Given the description of an element on the screen output the (x, y) to click on. 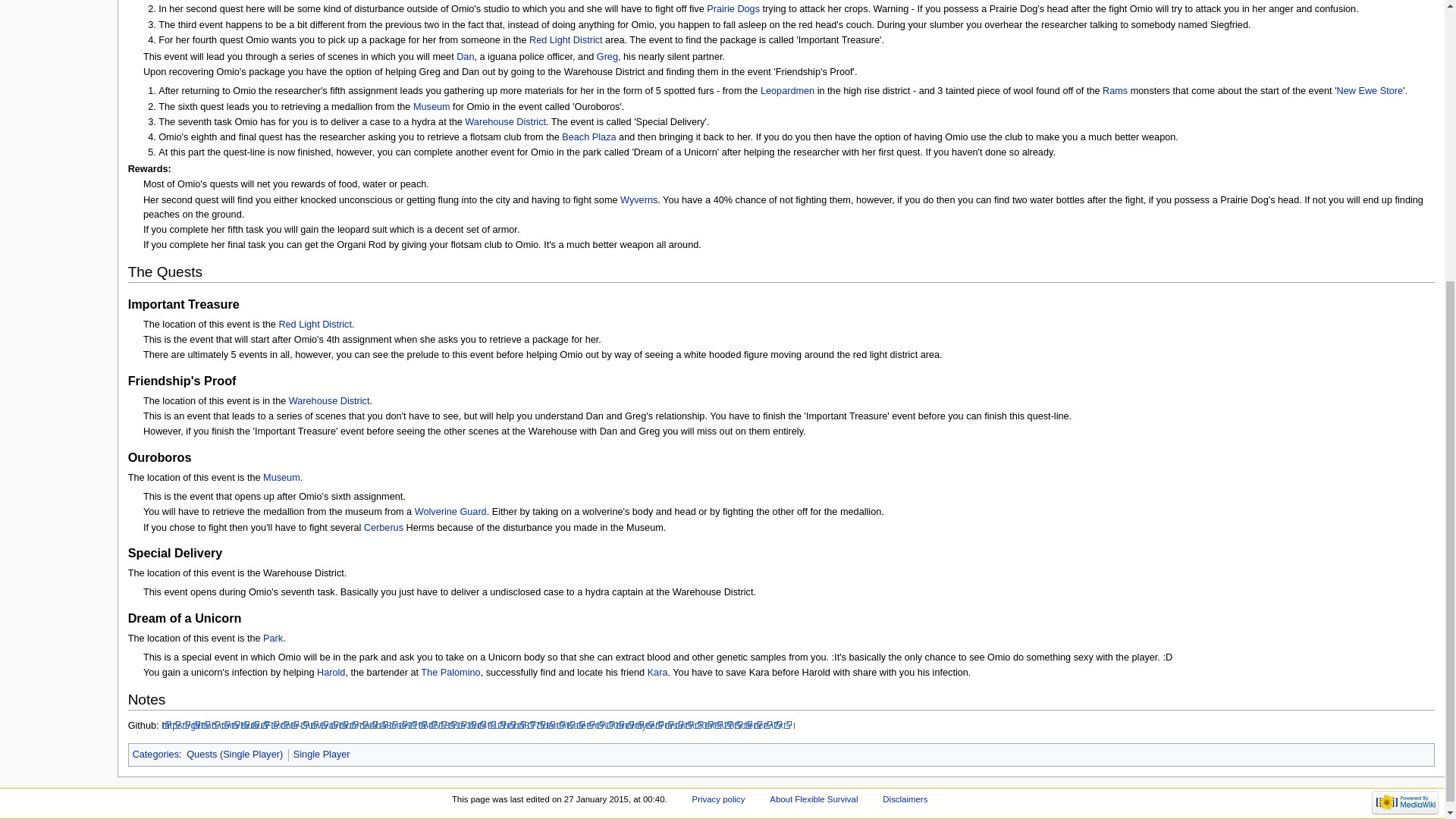
Museum (281, 477)
Wolverine Guard (450, 511)
Wyverns (639, 199)
Rams (1114, 90)
Beach Plaza (588, 136)
Warehouse District (505, 122)
Red Light District (315, 324)
Cerberus (383, 527)
Ram (1114, 90)
Leopardman (786, 90)
Museum (431, 106)
The Palomino (450, 672)
Prairie Dogs (733, 9)
Red Light District (565, 40)
Prairie Dog (733, 9)
